Given the description of an element on the screen output the (x, y) to click on. 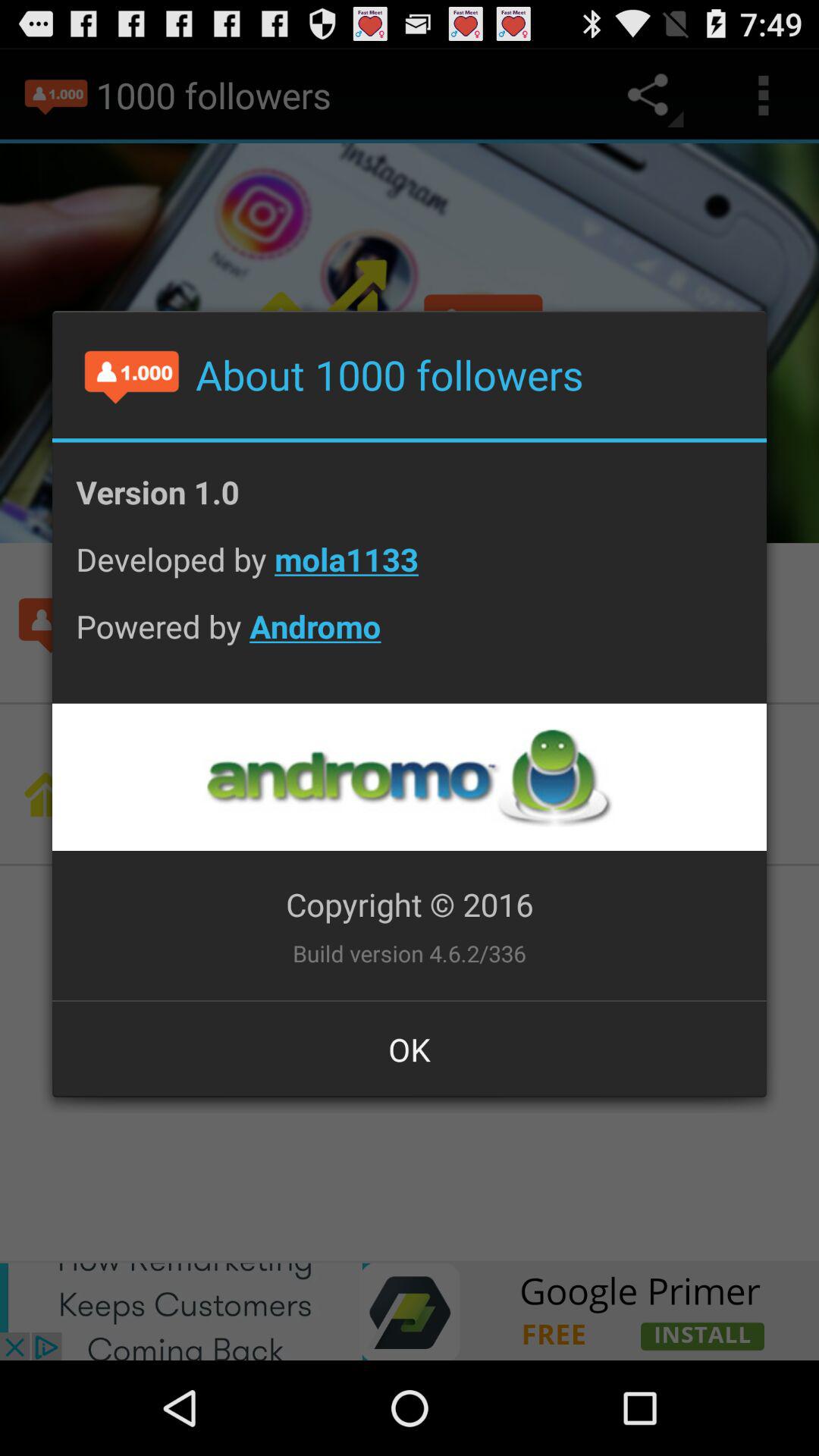
choose the icon below the powered by andromo icon (408, 776)
